Given the description of an element on the screen output the (x, y) to click on. 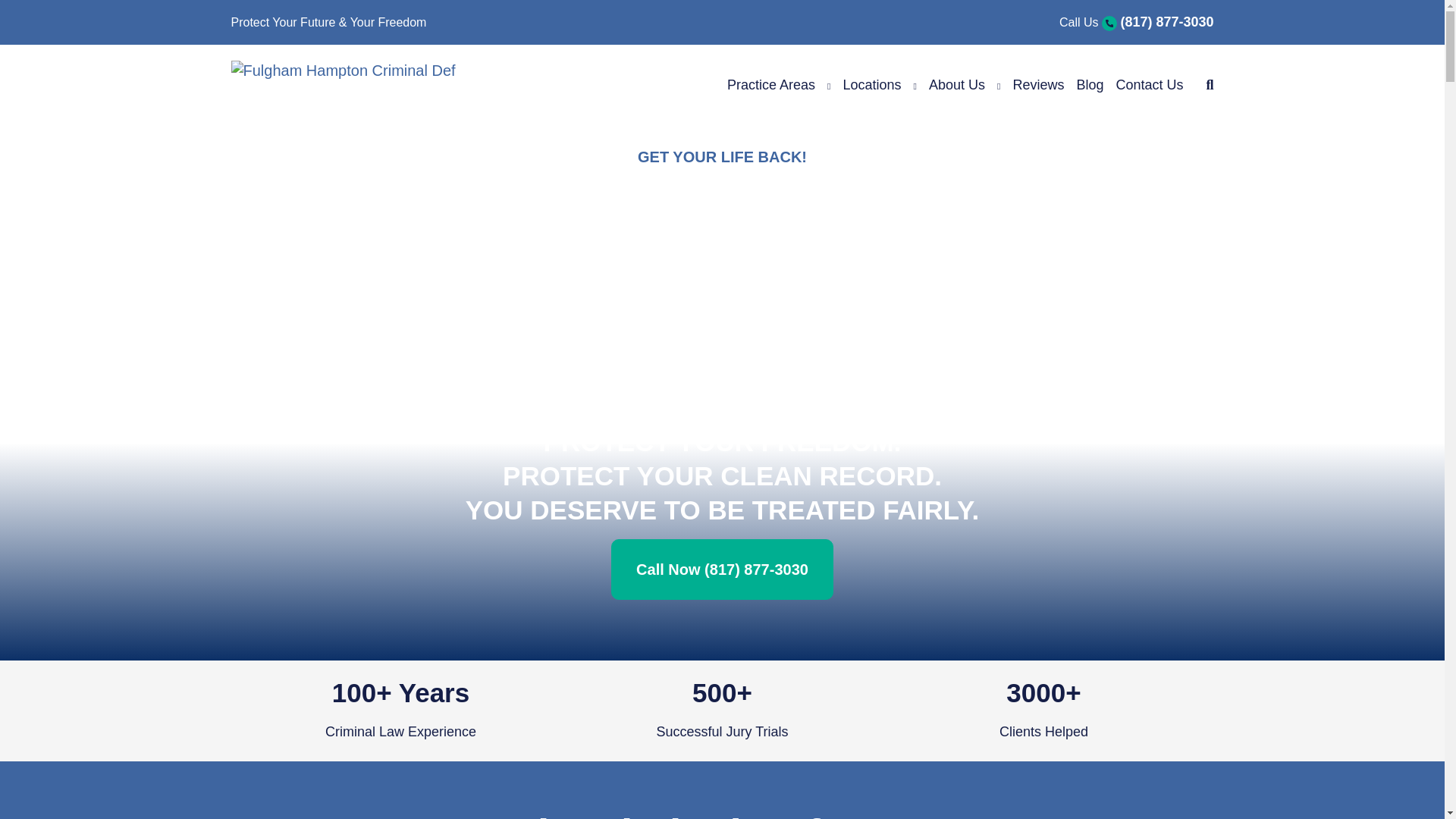
Blog (1089, 85)
Reviews (1038, 85)
Locations (872, 85)
About Us (957, 84)
Practice Areas (770, 84)
Contact Us (1149, 85)
Locations (872, 85)
